Given the description of an element on the screen output the (x, y) to click on. 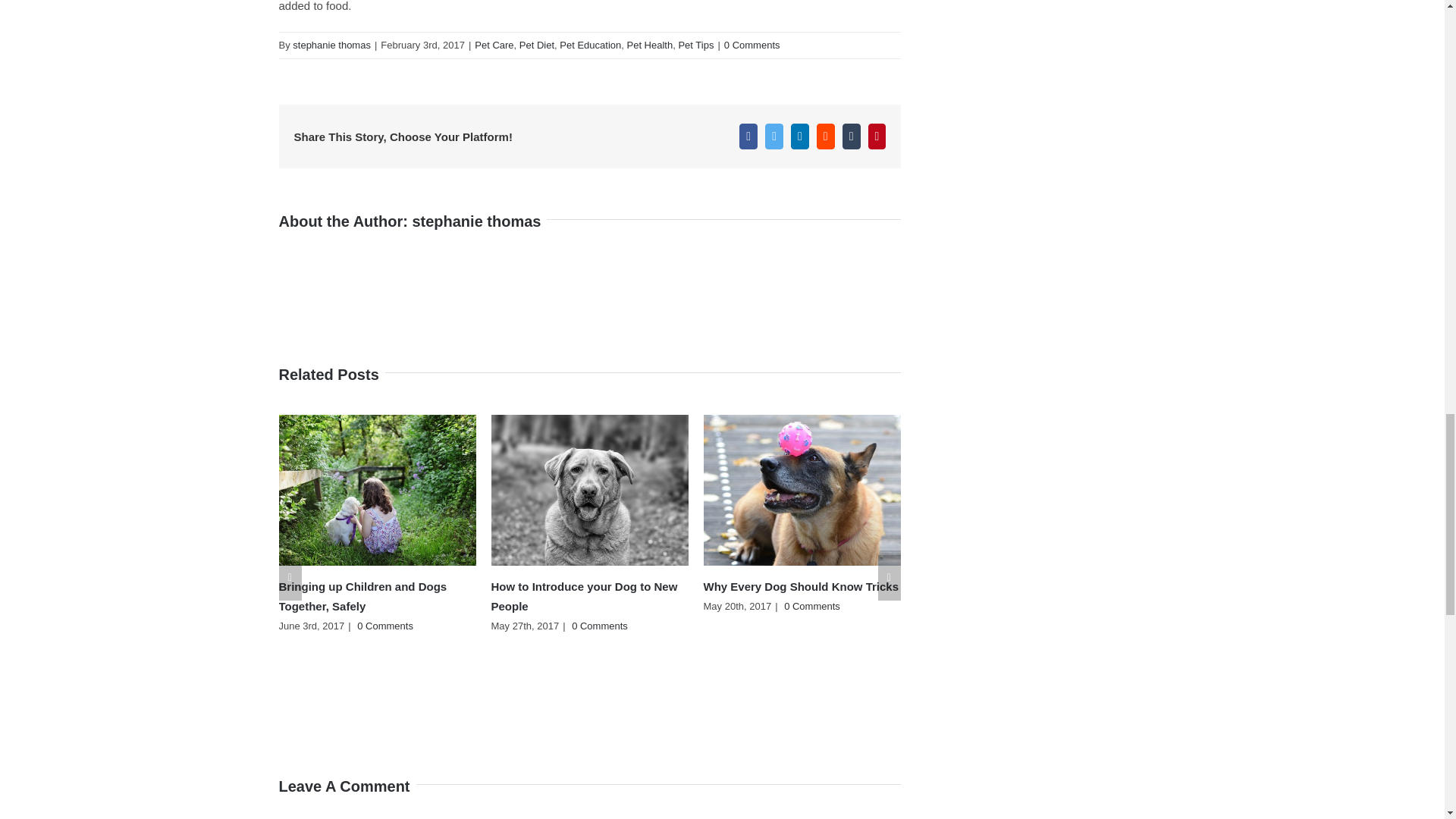
Posts by stephanie thomas (476, 221)
Bringing up Children and Dogs Together, Safely (362, 595)
Posts by stephanie thomas (331, 44)
How to Introduce your Dog to New People (585, 595)
